Given the description of an element on the screen output the (x, y) to click on. 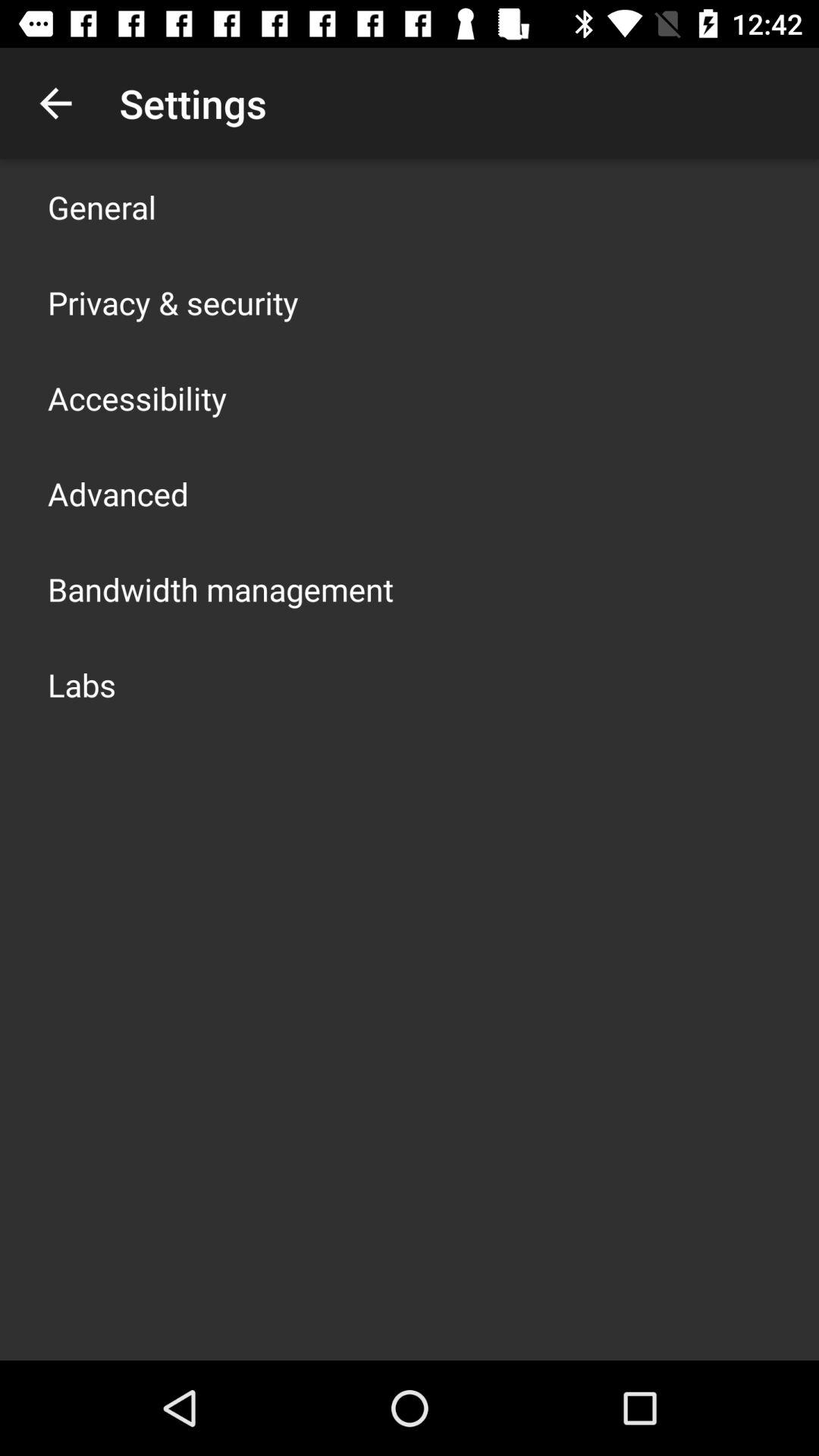
turn on bandwidth management (220, 588)
